Given the description of an element on the screen output the (x, y) to click on. 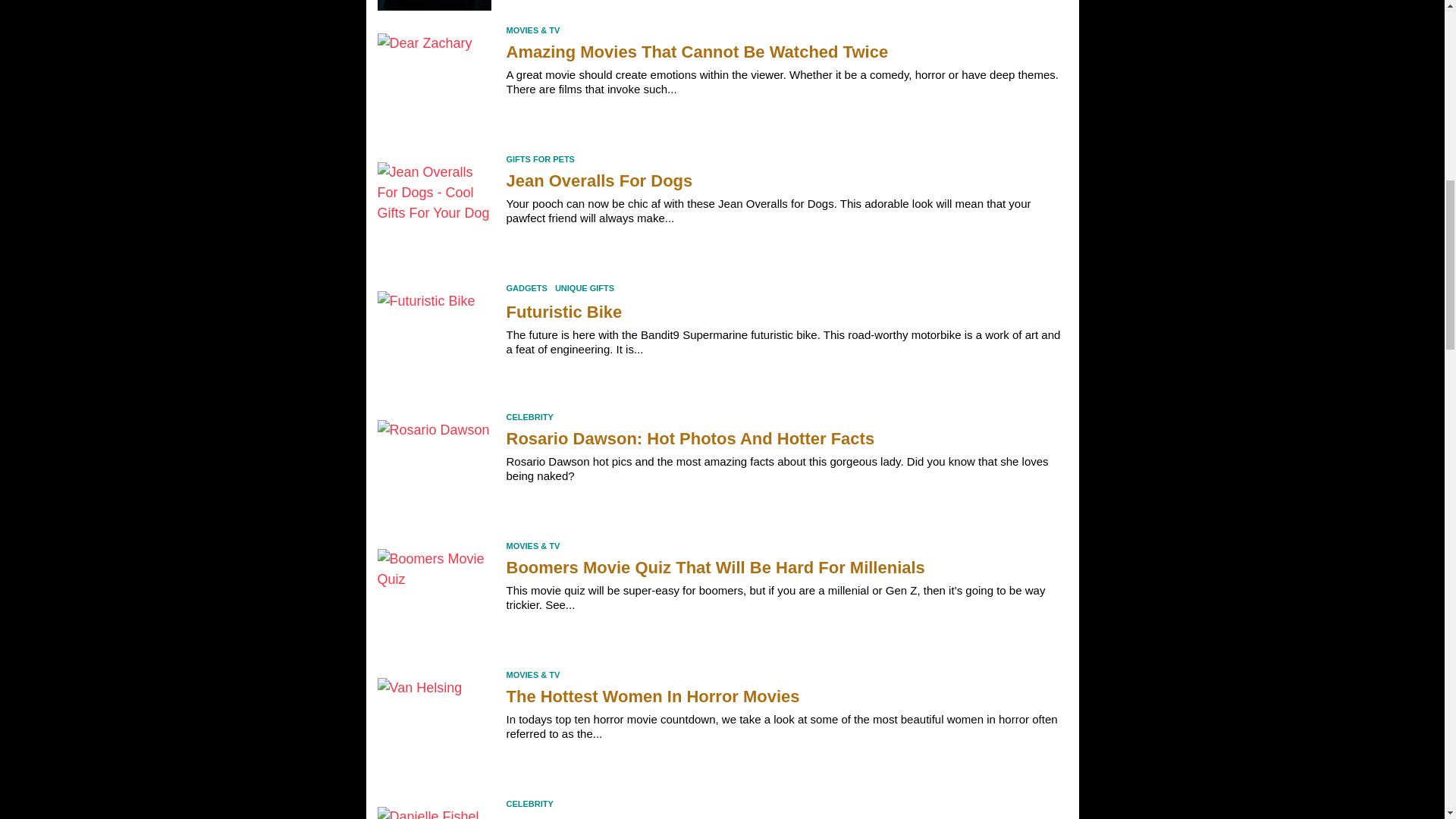
Danielle Fishel: Throwback To Her Sexy Maxim Shoot (434, 809)
Futuristic Bike (434, 340)
Boomers Movie Quiz That Will Be Hard For Millenials (434, 598)
Jean Overalls For Dogs (434, 211)
The Hottest Women In Horror Movies (434, 726)
Amazing Movies That Cannot Be Watched Twice (434, 82)
Rosario Dawson: Hot Photos And Hotter Facts (434, 469)
The Sixth Sense: The Scariest Scenes, Ranked (434, 5)
